Given the description of an element on the screen output the (x, y) to click on. 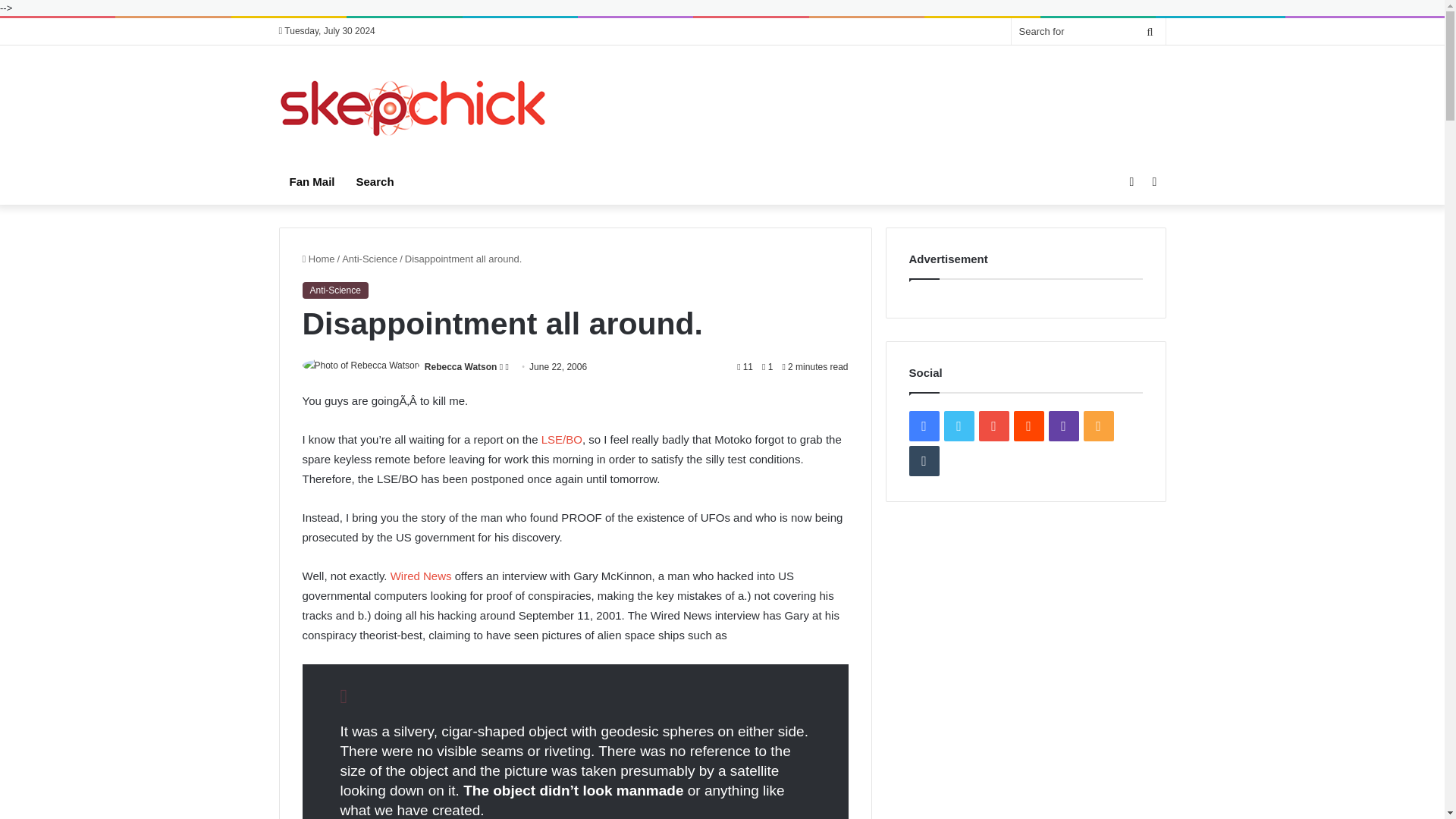
Rebecca Watson (461, 366)
Anti-Science (334, 289)
Search for (1149, 31)
Skepchick (414, 107)
Home (317, 258)
Fan Mail (312, 181)
Anti-Science (369, 258)
Search for (1088, 31)
Search (375, 181)
Wired News (420, 575)
Rebecca Watson (461, 366)
